Given the description of an element on the screen output the (x, y) to click on. 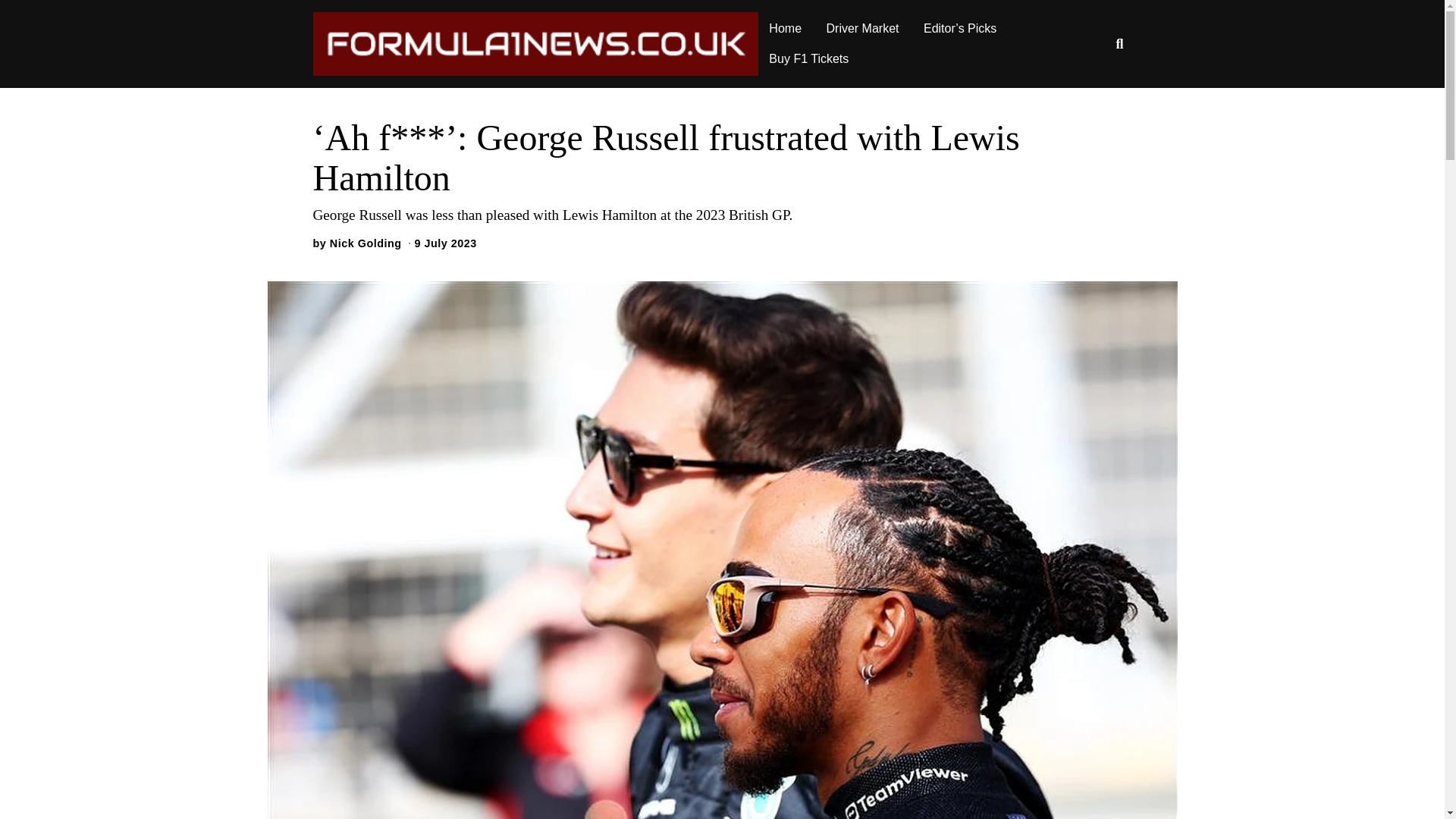
Driver Market (862, 28)
Nick Golding (365, 243)
Buy F1 Tickets (808, 59)
Home (785, 28)
